Given the description of an element on the screen output the (x, y) to click on. 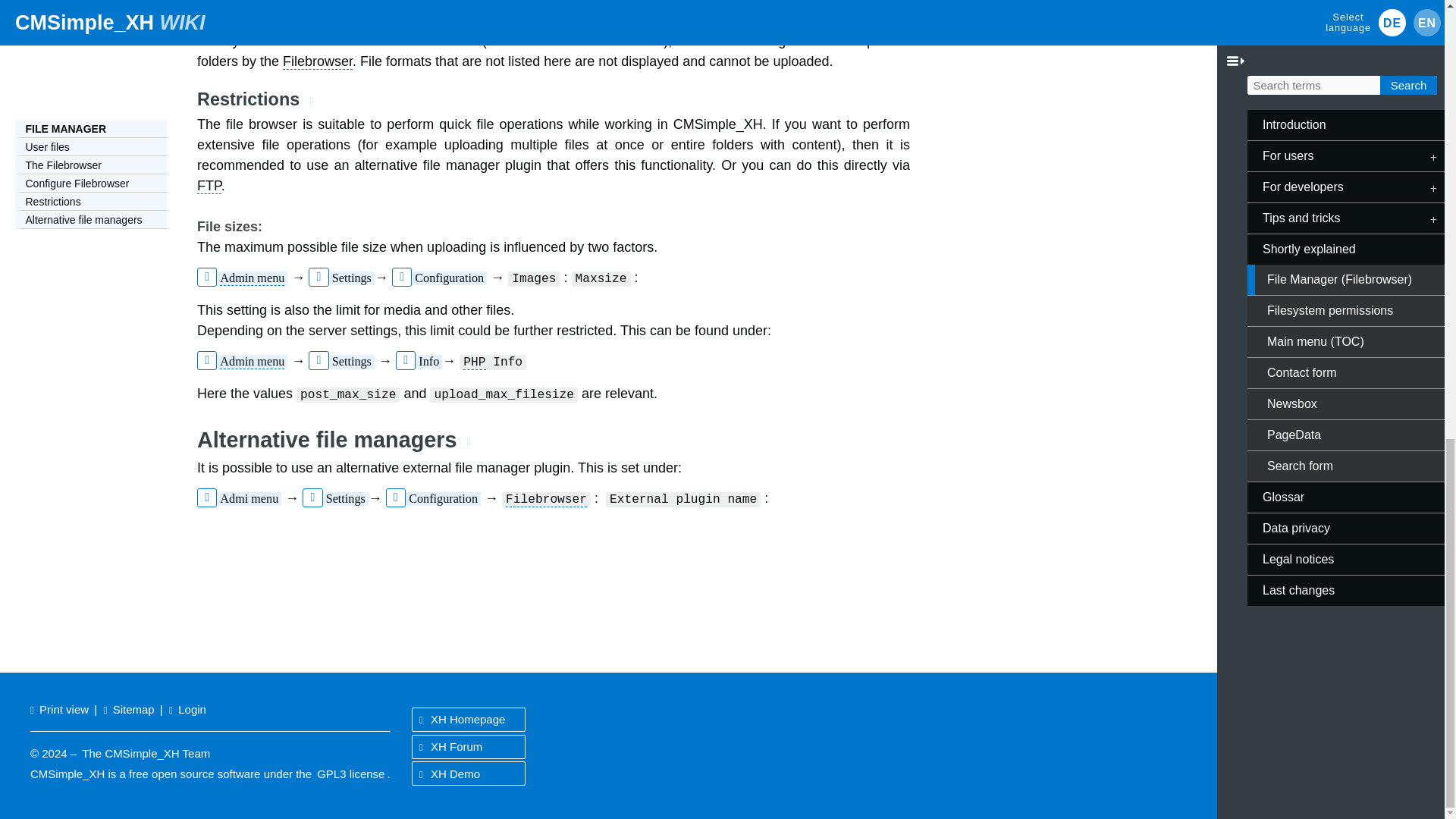
Filebrowser (317, 61)
Admin menu (251, 11)
FTP (208, 186)
Admin menu (251, 361)
Filebrowser (445, 11)
Admin menu (251, 278)
PHP (473, 362)
